Given the description of an element on the screen output the (x, y) to click on. 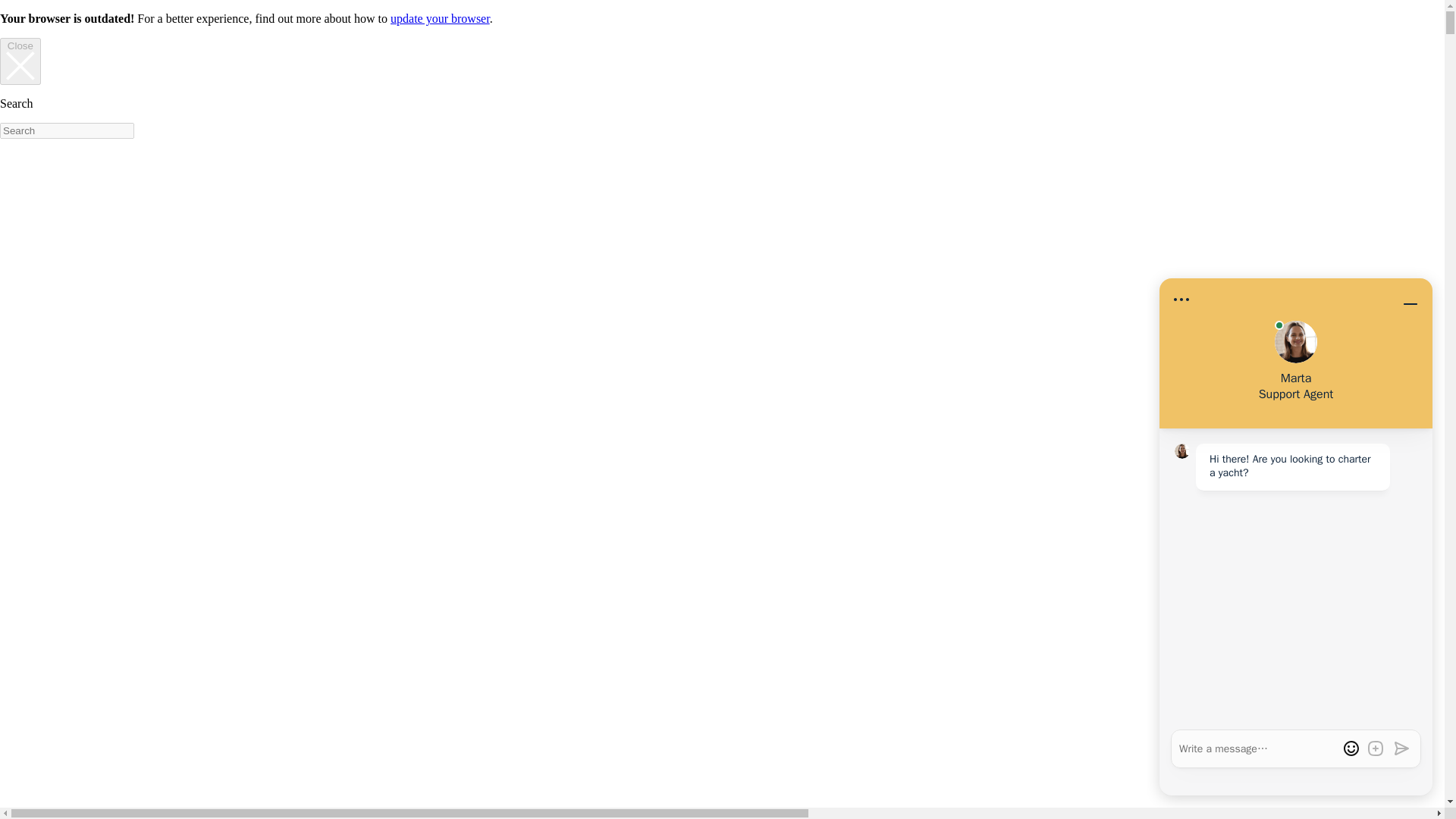
update your browser (439, 18)
lightbox-close (19, 65)
